Given the description of an element on the screen output the (x, y) to click on. 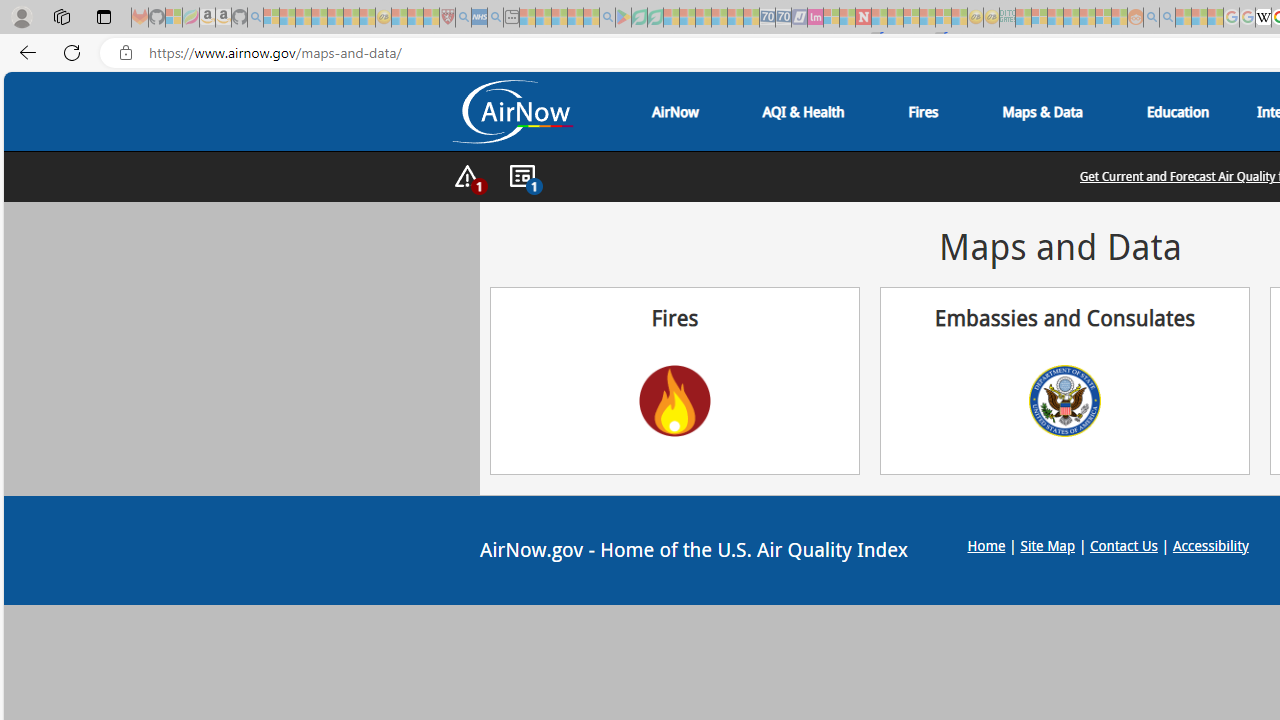
Site Map (1047, 544)
AutomationID: nav-announcements-toggle (522, 177)
Fires Fire Icon (675, 380)
Air Now Logo (512, 111)
